Given the description of an element on the screen output the (x, y) to click on. 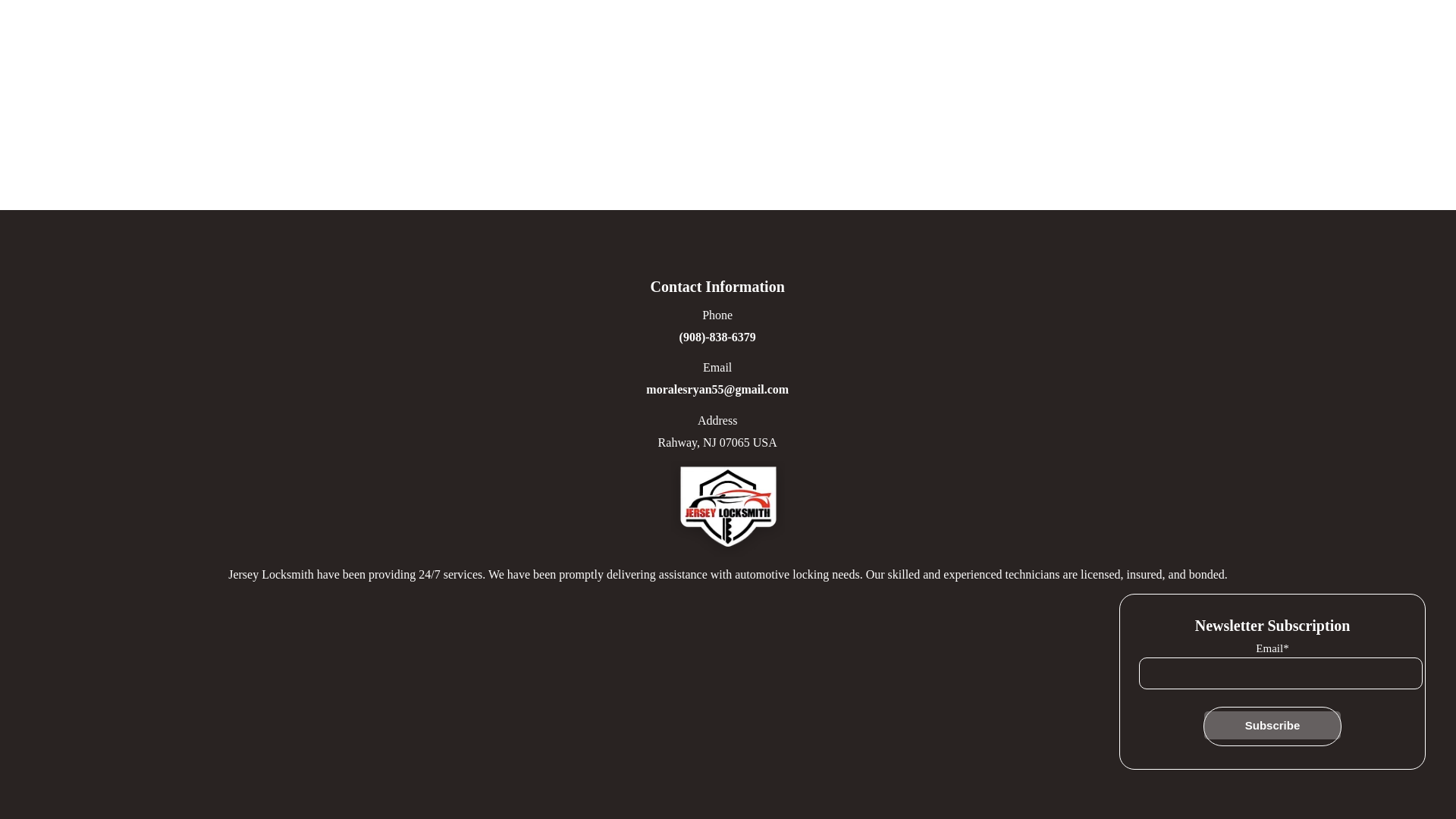
Subscribe (1272, 725)
